Given the description of an element on the screen output the (x, y) to click on. 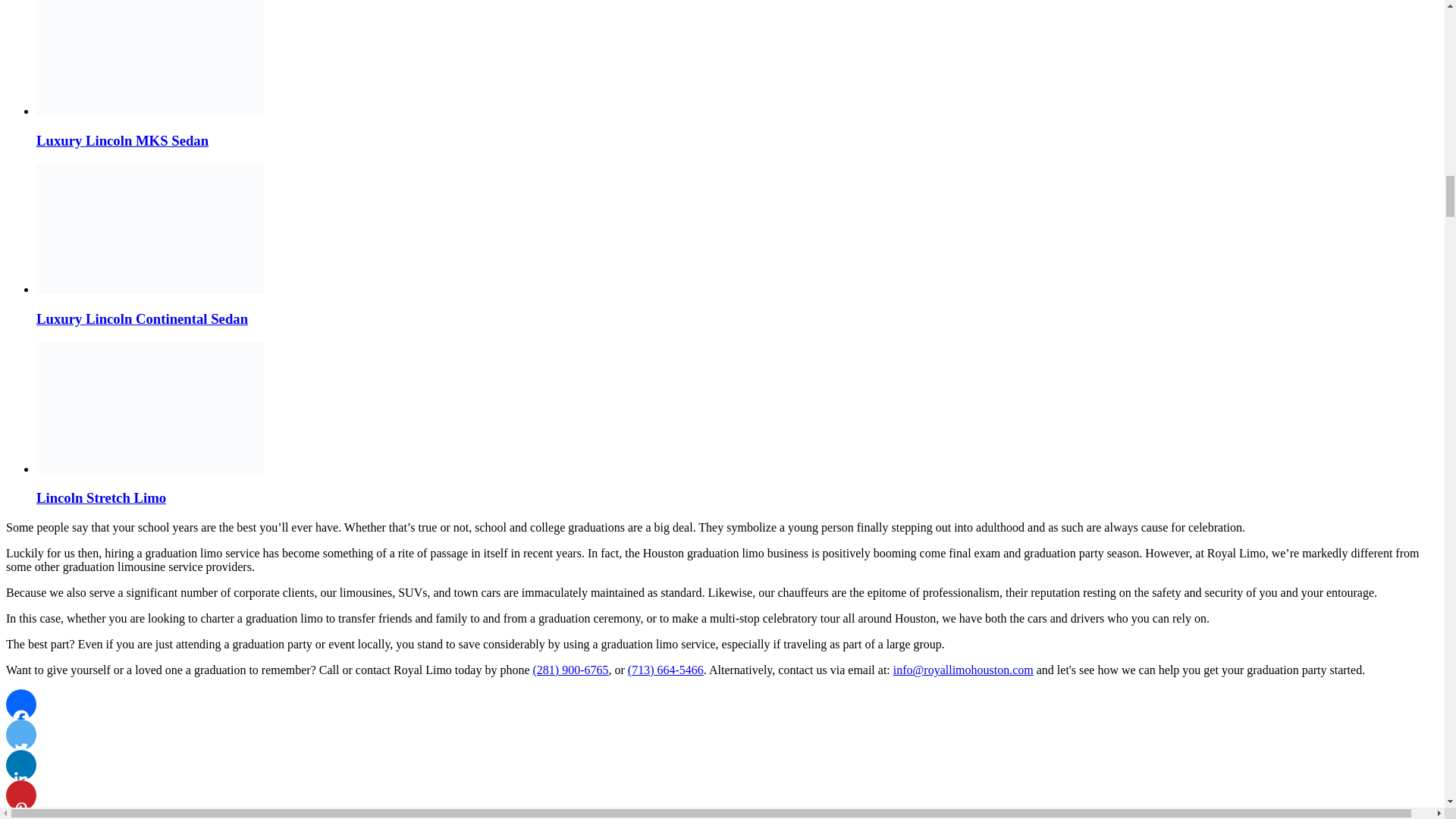
Pinterest (20, 795)
Twitter (20, 734)
Reddit (20, 814)
Linkedin (20, 765)
Facebook (20, 704)
